Given the description of an element on the screen output the (x, y) to click on. 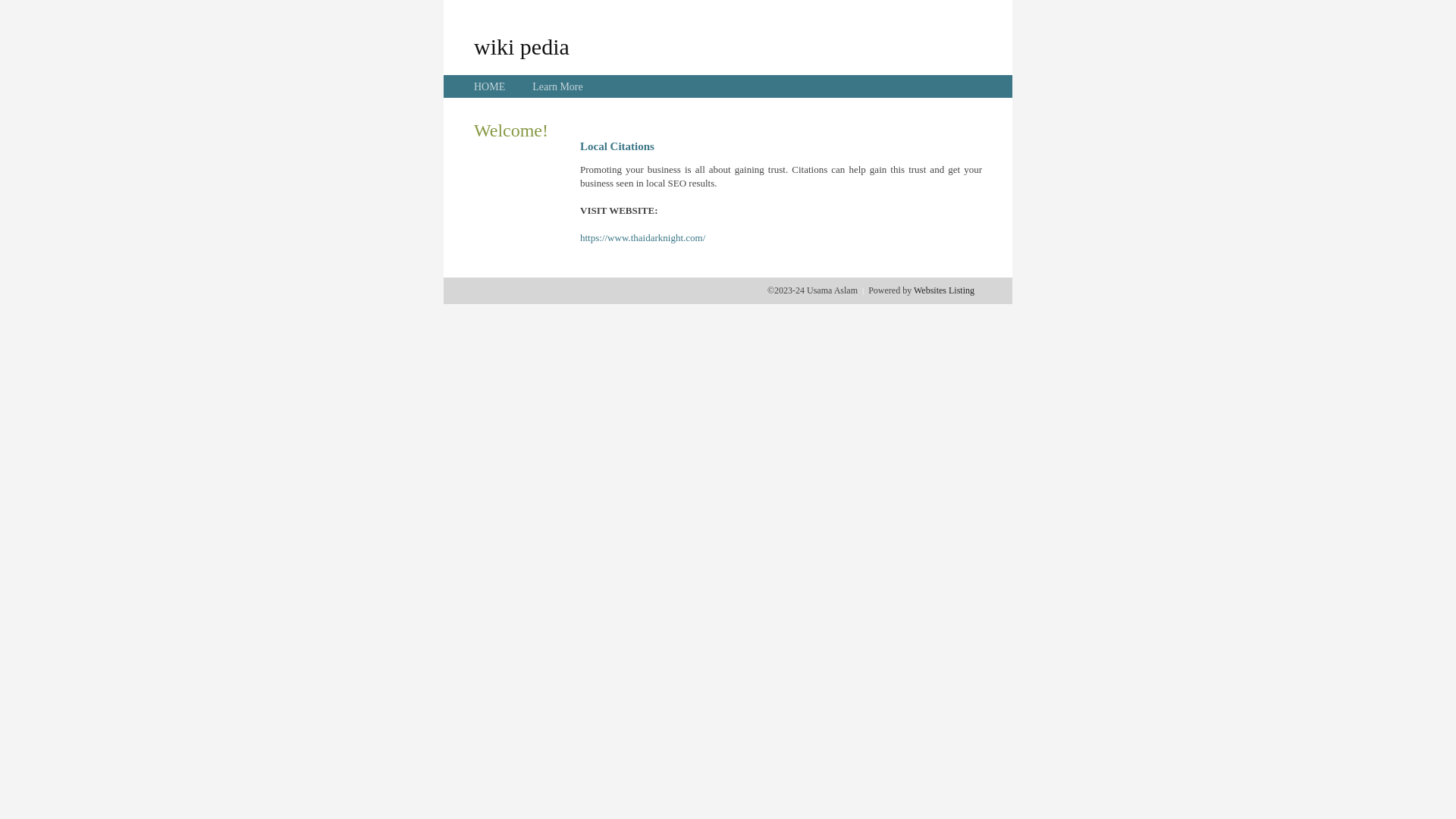
Learn More Element type: text (557, 86)
https://www.thaidarknight.com/ Element type: text (642, 237)
Websites Listing Element type: text (943, 290)
wiki pedia Element type: text (521, 46)
HOME Element type: text (489, 86)
